Given the description of an element on the screen output the (x, y) to click on. 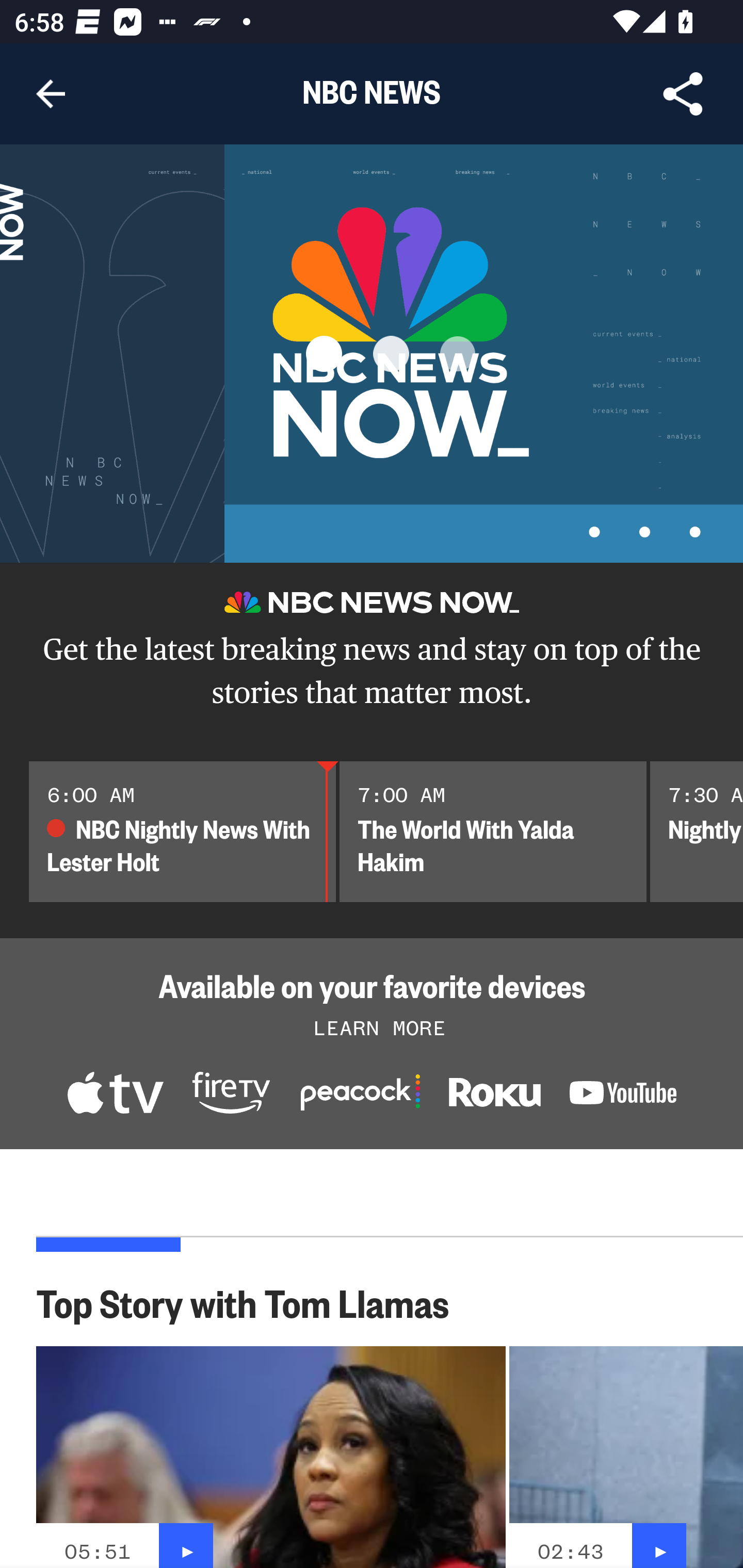
Navigate up (50, 93)
Share Article, button (683, 94)
1260802722430-NBC-News-Now (115, 1095)
B0055DL1G4 (231, 1095)
nbc-news (494, 1096)
nbcnews (622, 1095)
Top Story with Tom Llamas (253, 1301)
05:51  05:51 05:51 05:51  (270, 1456)
02:43  02:43 02:43 02:43  (625, 1456)
05:51 (97, 1551)
02:43 (570, 1551)
